Given the description of an element on the screen output the (x, y) to click on. 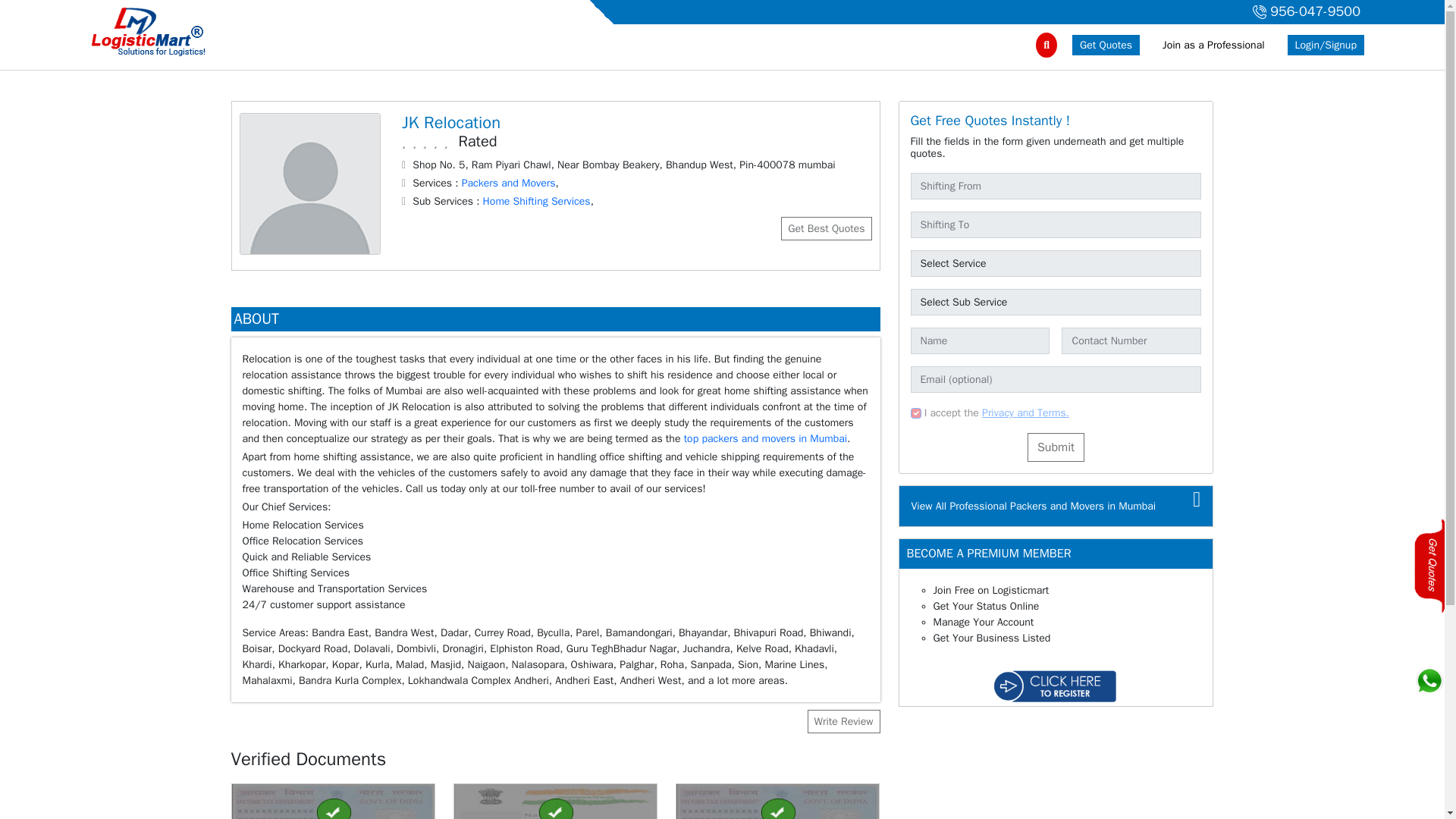
View All Professional Packers and Movers in Mumbai (1033, 505)
Submit (1055, 447)
956-047-9500 (1304, 11)
Get Best Quotes (825, 228)
top packers and movers in Mumbai (765, 438)
Join as a Professional (1212, 45)
Packers and Movers (508, 182)
Get Quotes (1105, 45)
on (915, 412)
Home Shifting Services (537, 201)
Privacy and Terms. (1024, 412)
Write Review (842, 721)
